Given the description of an element on the screen output the (x, y) to click on. 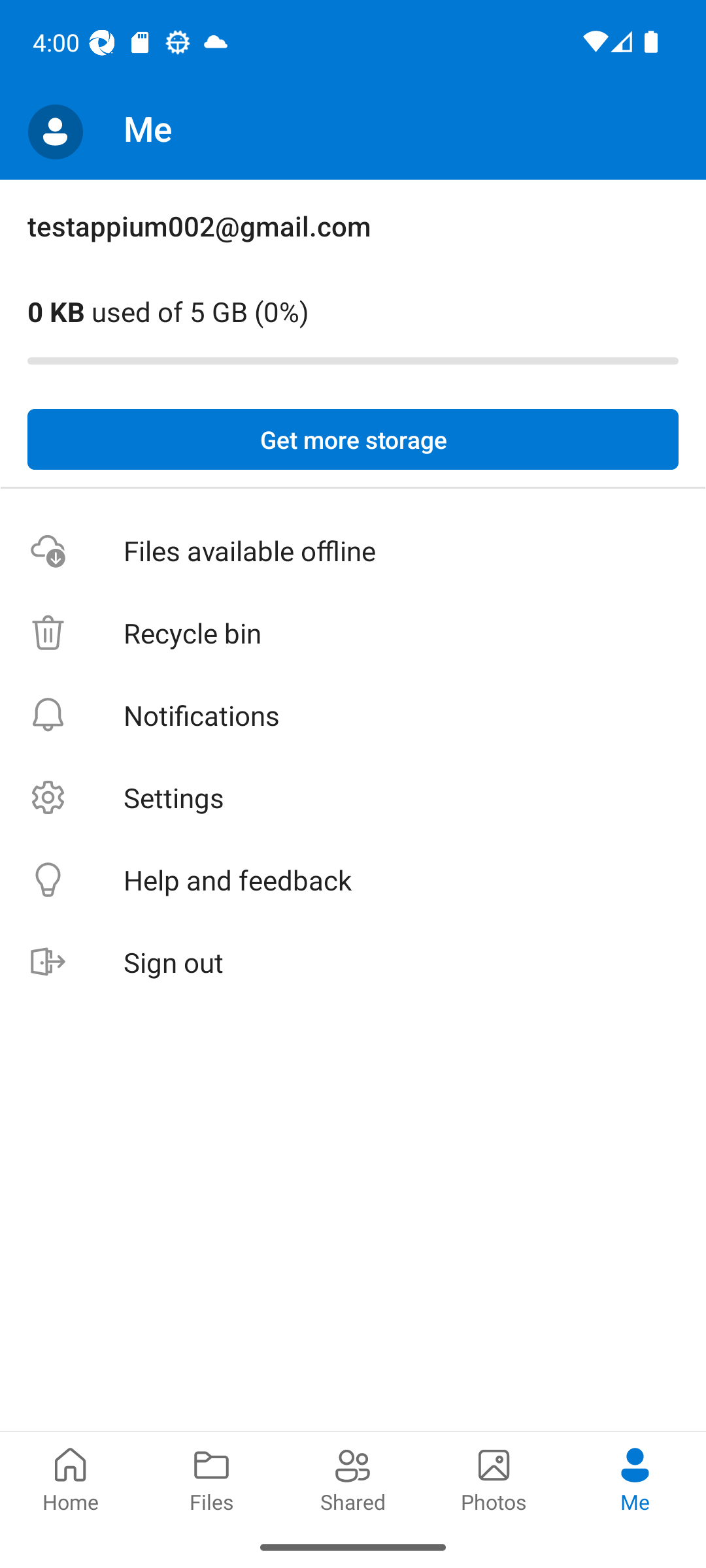
Account switcher (55, 131)
Get more storage (352, 439)
Files available offline (353, 550)
Recycle bin (353, 633)
Notifications (353, 714)
Settings (353, 796)
Help and feedback (353, 879)
Sign out (353, 962)
Home pivot Home (70, 1478)
Files pivot Files (211, 1478)
Shared pivot Shared (352, 1478)
Photos pivot Photos (493, 1478)
